Given the description of an element on the screen output the (x, y) to click on. 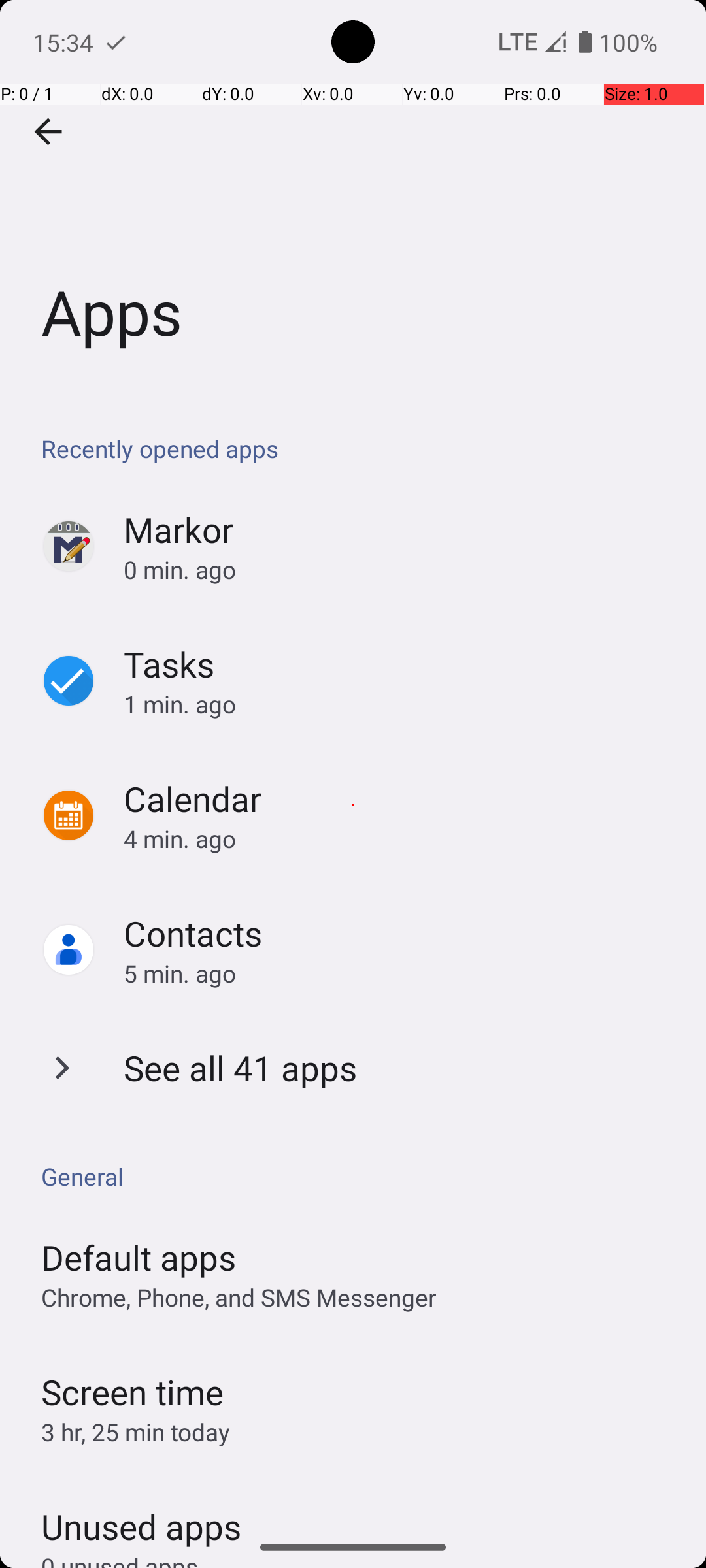
0 min. ago Element type: android.widget.TextView (400, 569)
4 min. ago Element type: android.widget.TextView (400, 838)
5 min. ago Element type: android.widget.TextView (400, 972)
3 hr, 25 min today Element type: android.widget.TextView (135, 1431)
